Given the description of an element on the screen output the (x, y) to click on. 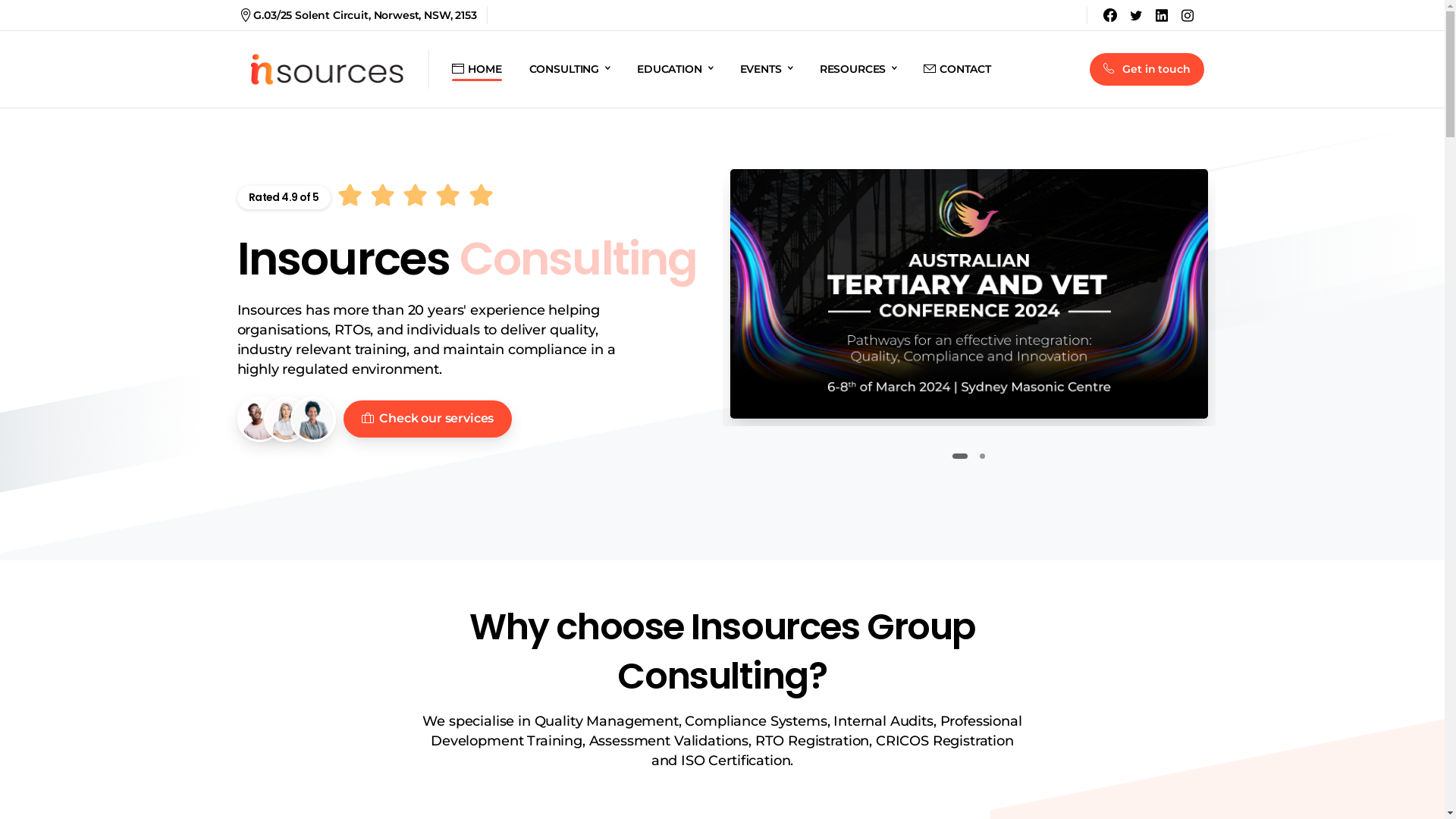
EVENTS Element type: text (766, 69)
RESOURCES Element type: text (858, 69)
Facebook Element type: hover (1110, 14)
Check our services Element type: text (426, 418)
Get in touch Element type: text (1146, 69)
CONTACT Element type: text (957, 69)
CONSULTING Element type: text (569, 69)
linkedin Element type: hover (1161, 14)
twitter Element type: hover (1135, 14)
EDUCATION Element type: text (674, 69)
instagram Element type: hover (1187, 14)
HOME Element type: text (476, 69)
